Given the description of an element on the screen output the (x, y) to click on. 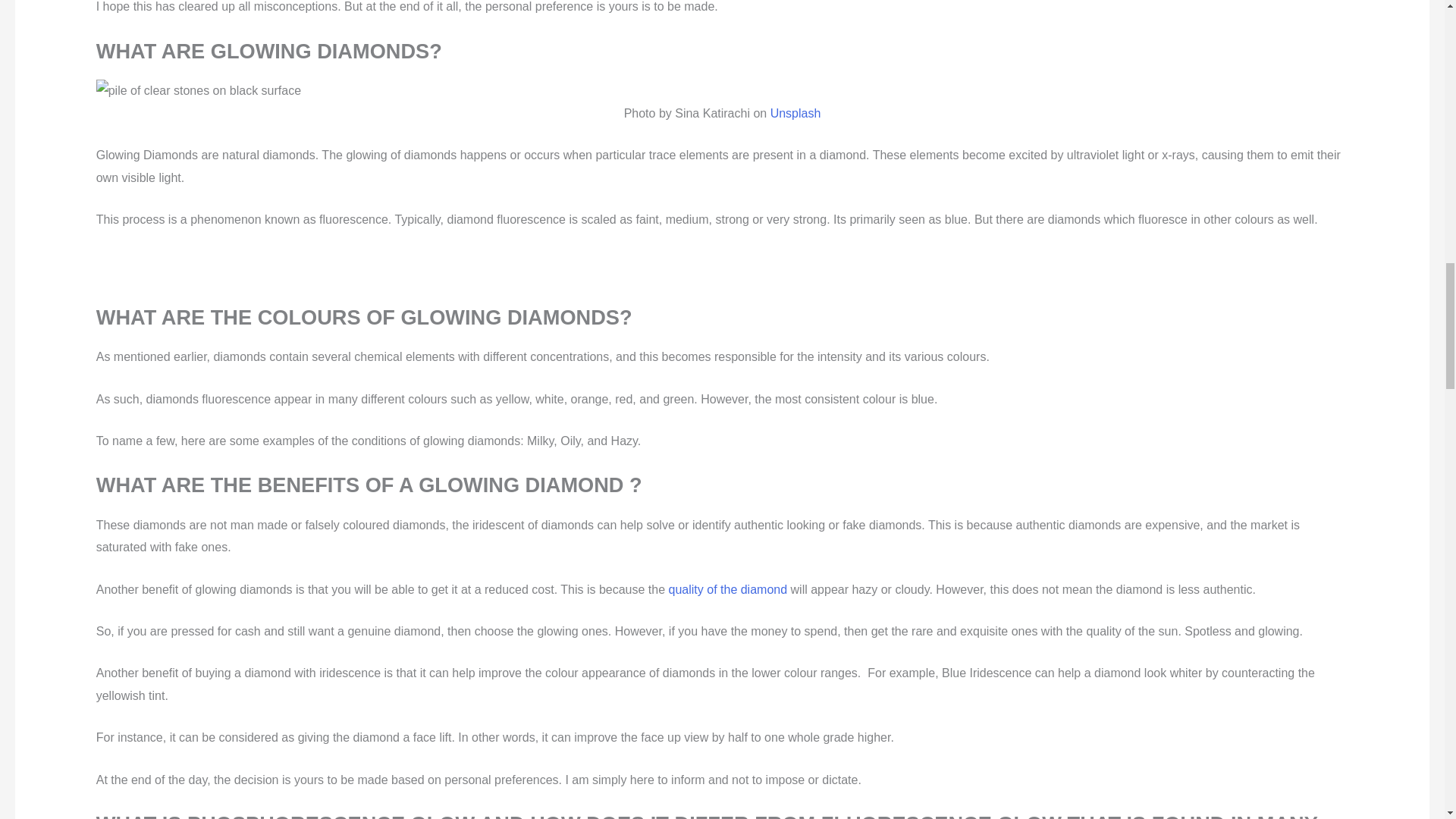
quality of the diamond (727, 589)
Unsplash (794, 113)
